Given the description of an element on the screen output the (x, y) to click on. 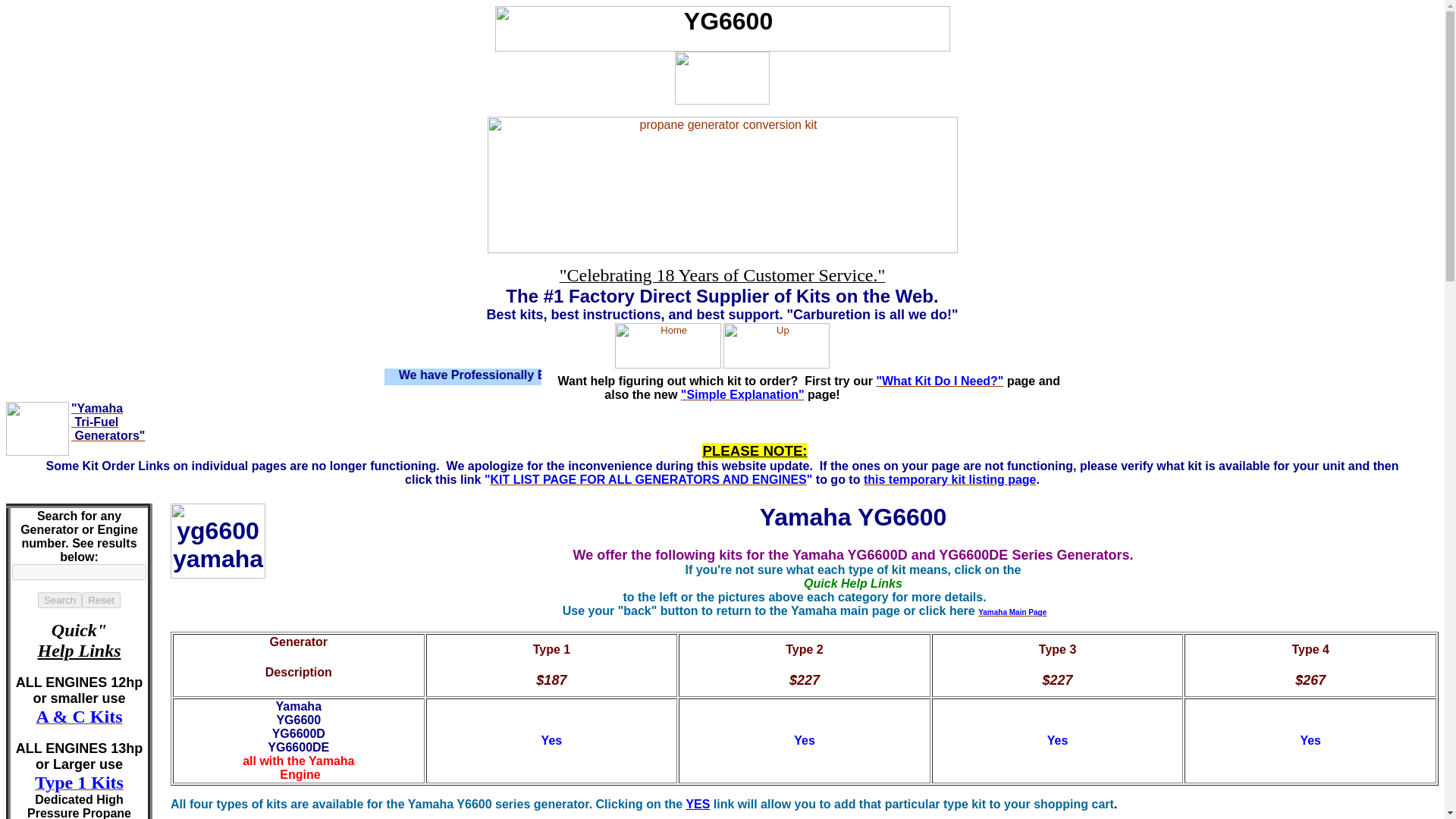
KIT LIST PAGE FOR ALL GENERATORS AND ENGINES (648, 479)
"What Kit Do I Need?" (939, 380)
Reset (100, 600)
Type 1 Kits (78, 783)
 Tri-Fuel (94, 421)
"Simple Explanation" (743, 394)
propane generator conversion kit (721, 248)
Search (59, 600)
Yamaha Main Page (1012, 610)
